Given the description of an element on the screen output the (x, y) to click on. 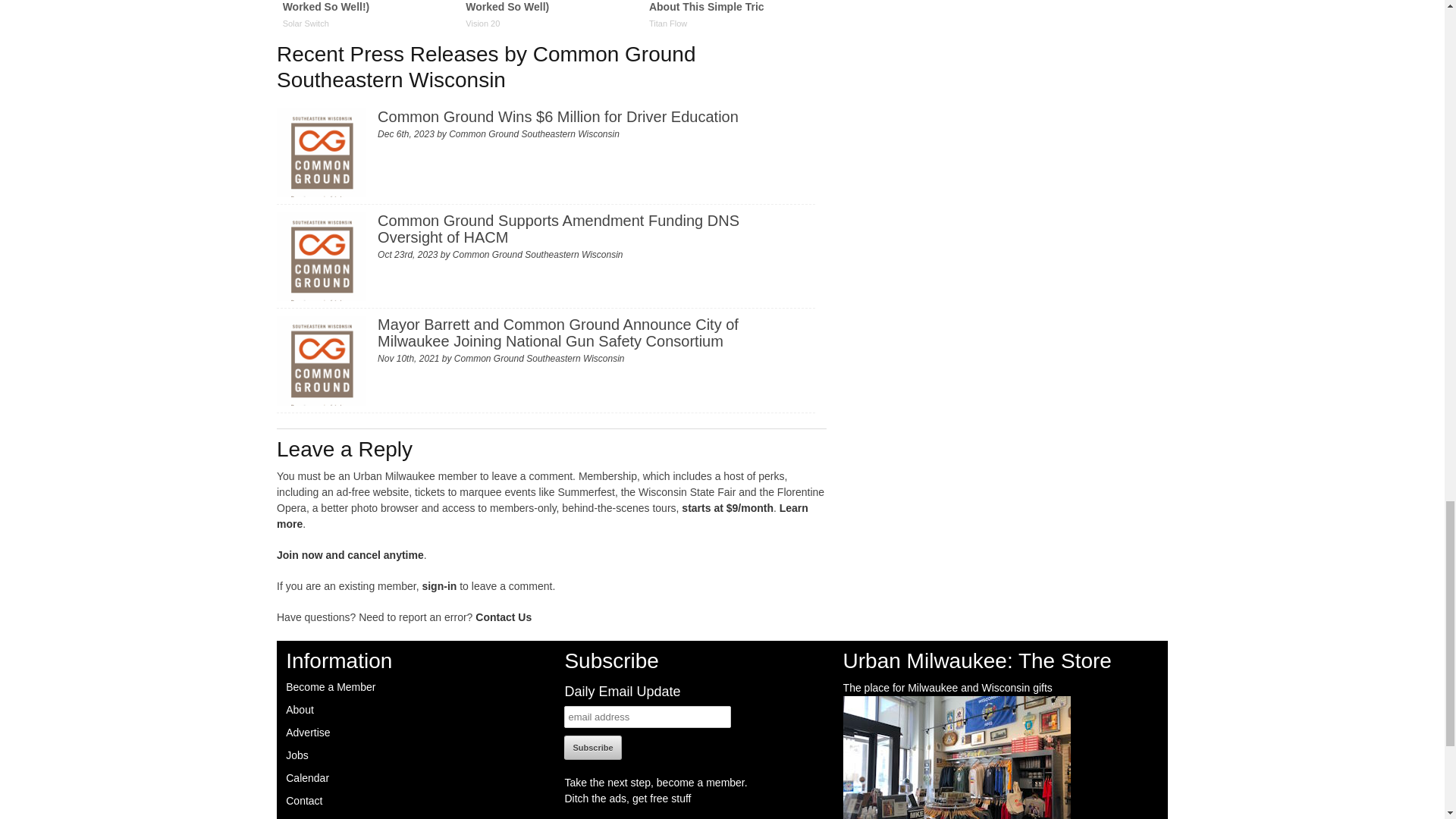
Posts by Common Ground Southeastern Wisconsin (537, 254)
Posts by Common Ground Southeastern Wisconsin (534, 133)
Posts by Common Ground Southeastern Wisconsin (539, 357)
Subscribe (592, 747)
